Given the description of an element on the screen output the (x, y) to click on. 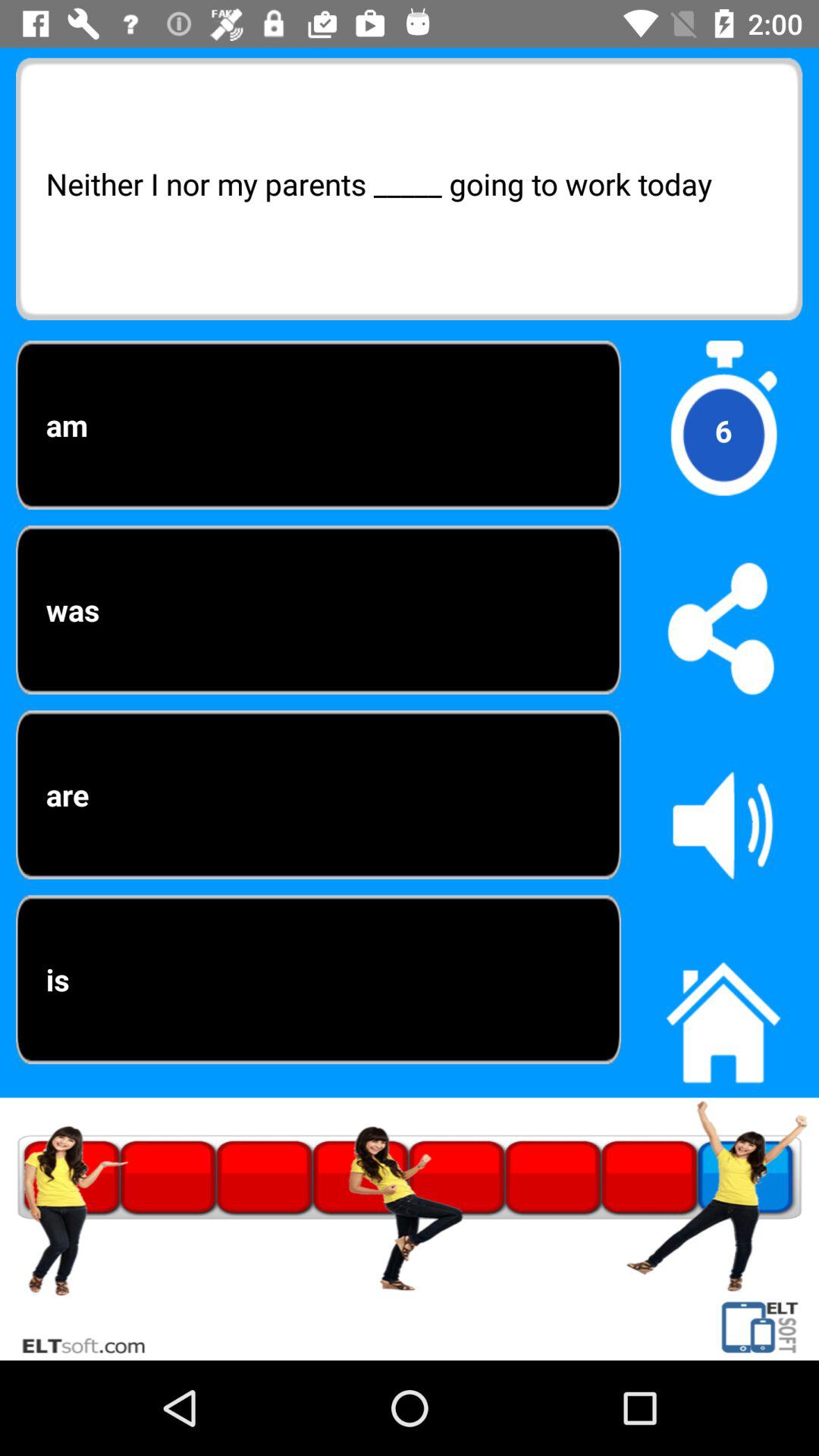
scroll to are button (318, 794)
